Given the description of an element on the screen output the (x, y) to click on. 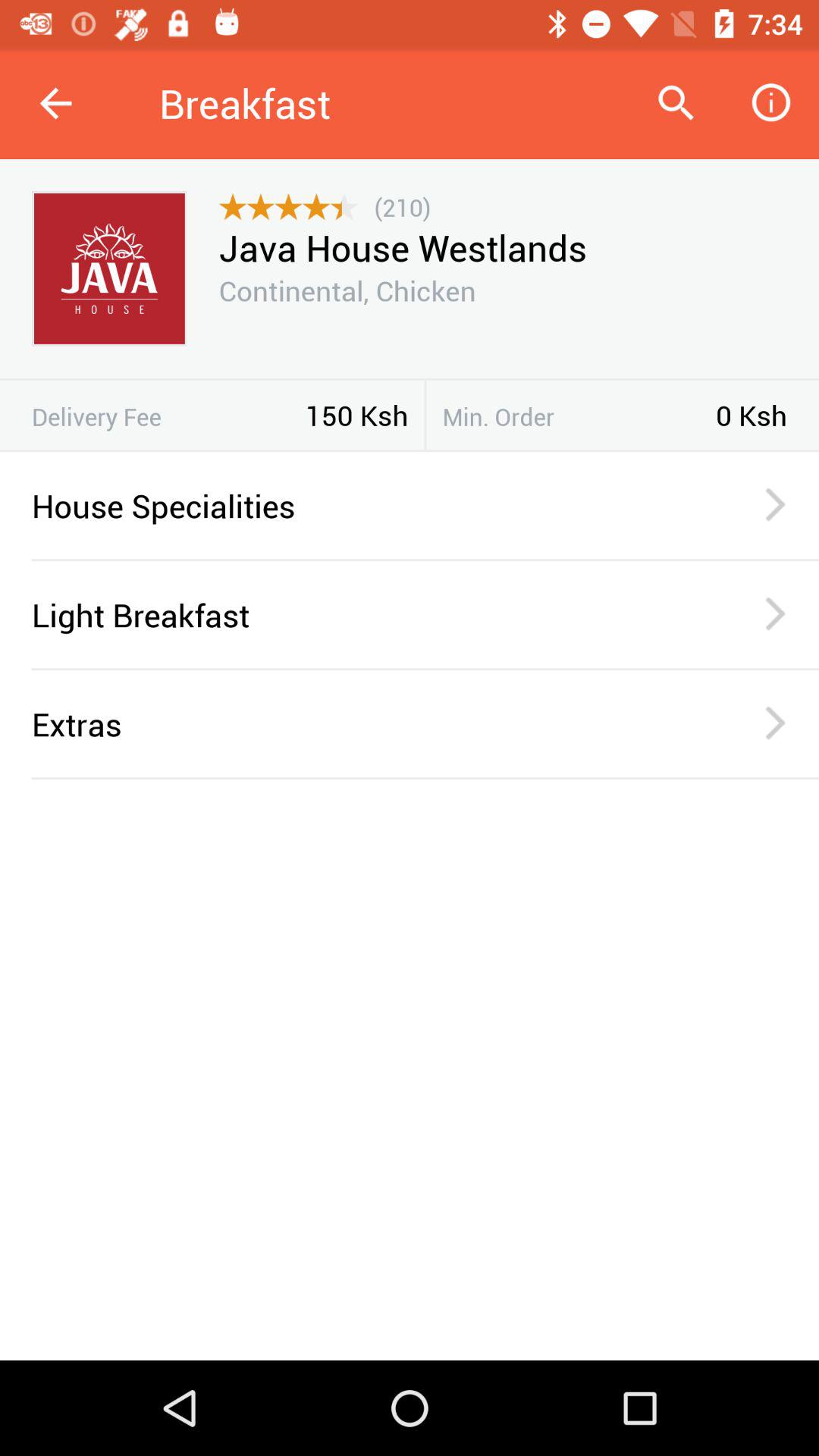
open the light breakfast icon (365, 614)
